Given the description of an element on the screen output the (x, y) to click on. 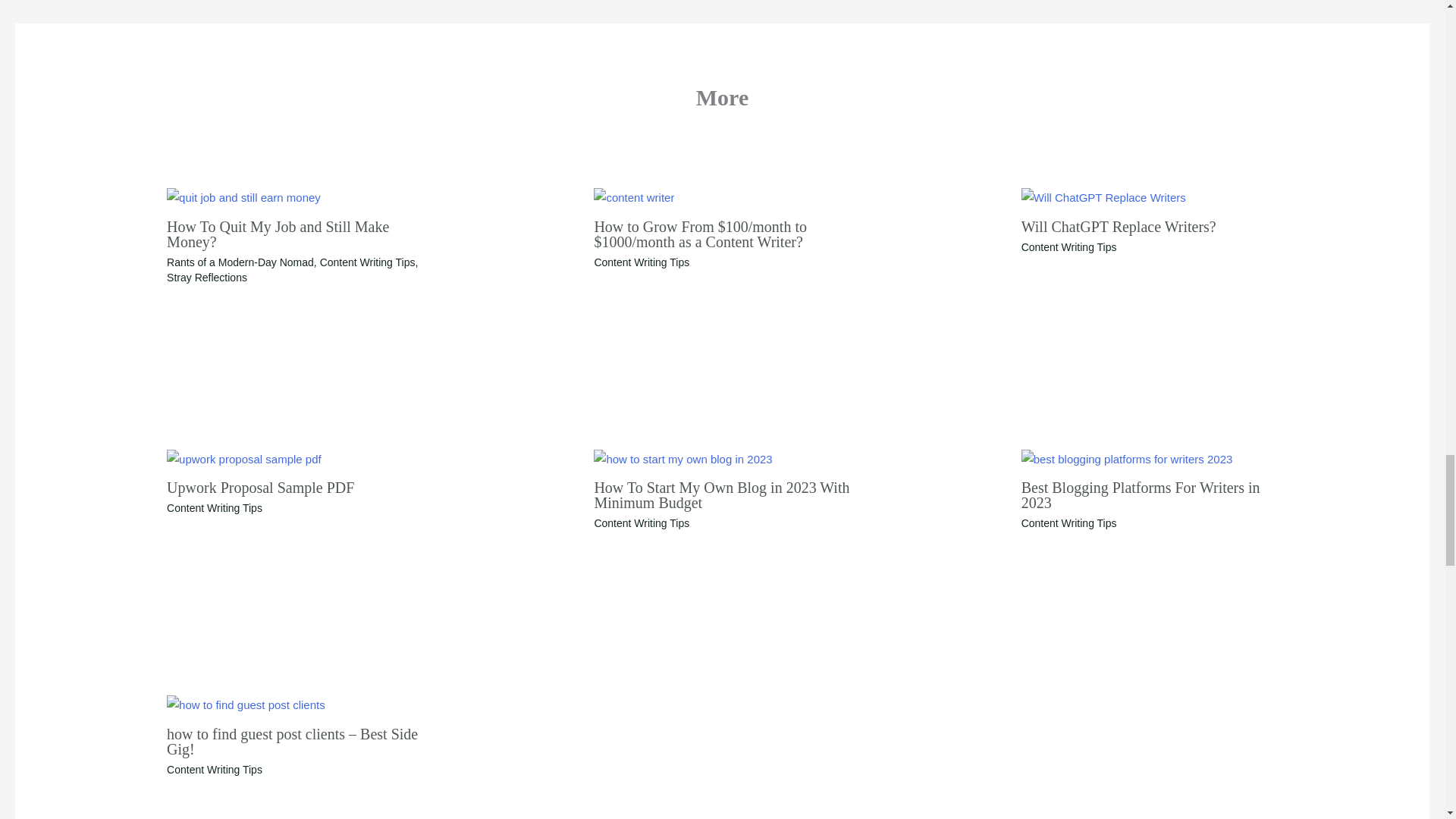
Content Writing Tips (214, 508)
How To Start My Own Blog in 2023 With Minimum Budget (721, 495)
Will ChatGPT Replace Writers? (1118, 226)
Stray Reflections (207, 277)
Content Writing Tips (1069, 522)
Best Blogging Platforms For Writers in 2023 (1141, 495)
Upwork Proposal Sample PDF (260, 487)
Rants of a Modern-Day Nomad (240, 262)
Content Writing Tips (641, 262)
Content Writing Tips (641, 522)
